Given the description of an element on the screen output the (x, y) to click on. 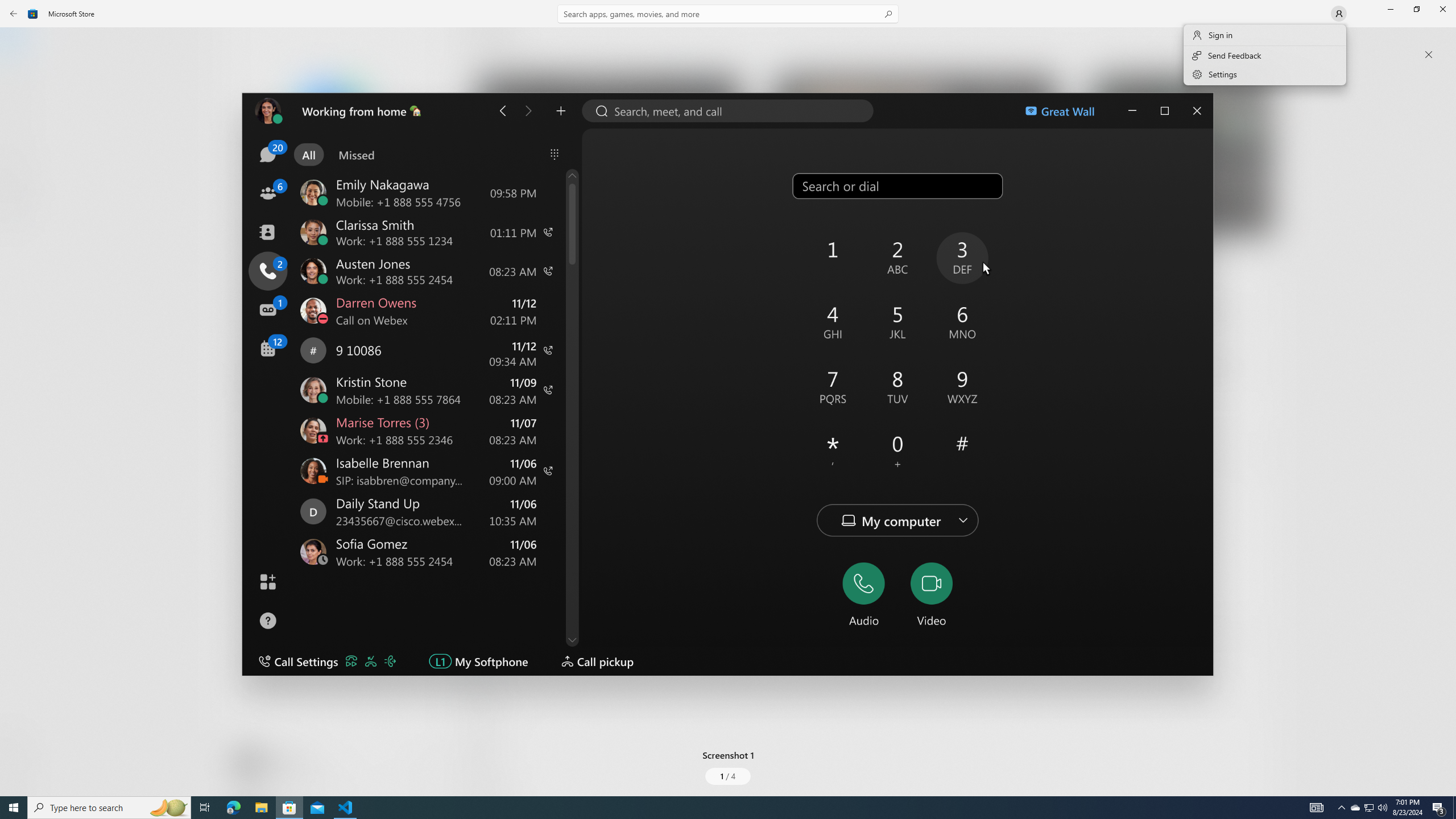
Yes, this was helpful. 34 votes. (1181, 636)
Show all ratings and reviews (477, 660)
Search (727, 13)
close popup window (1428, 54)
Install (334, 244)
Productivity (329, 426)
3.4 stars. Click to skip to ratings and reviews (307, 309)
Cisco Systems. (383, 189)
Report review (1248, 636)
